Given the description of an element on the screen output the (x, y) to click on. 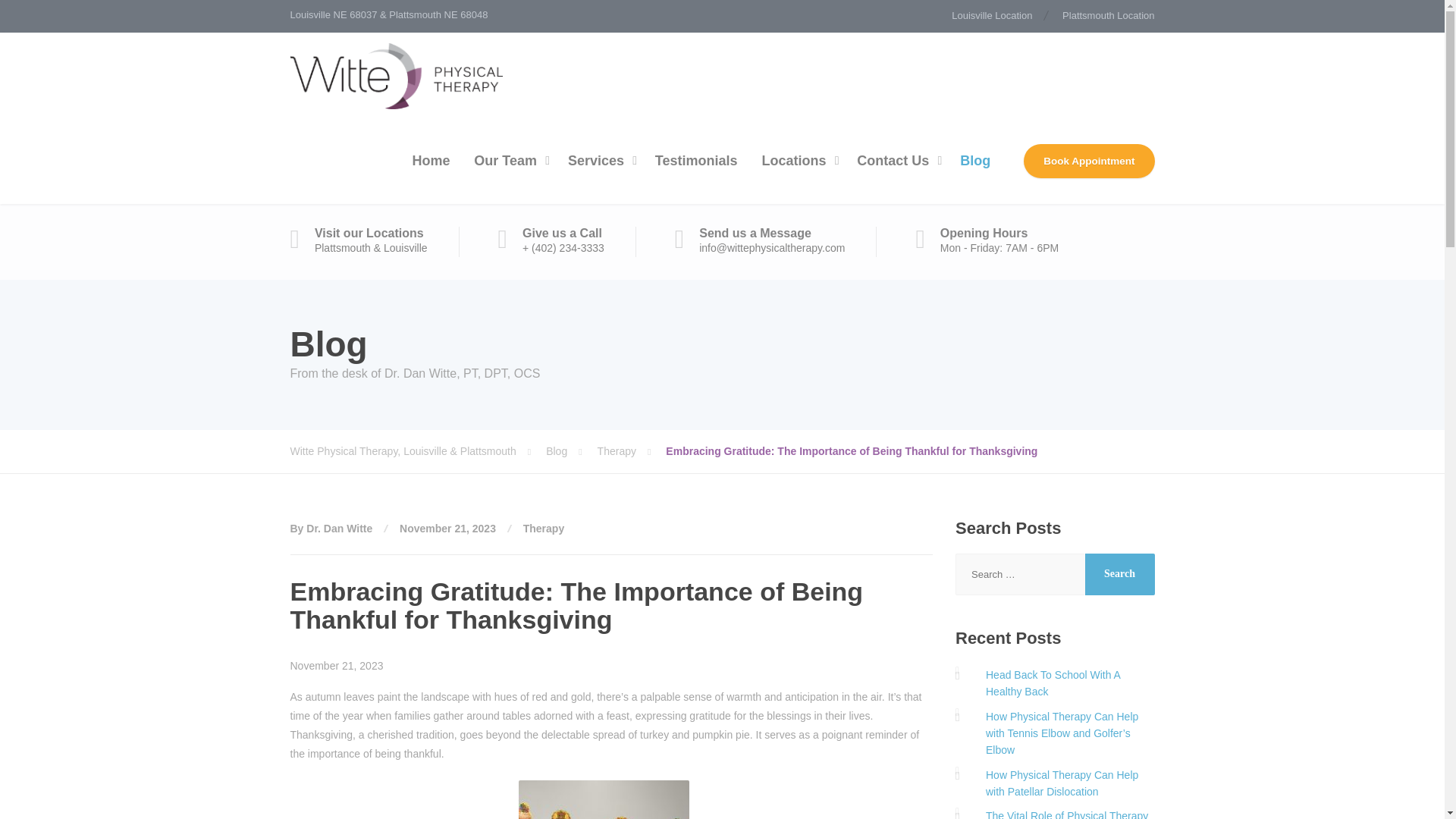
Go to Blog. (571, 451)
Our Team (508, 160)
Locations (797, 160)
Search (1119, 574)
Contact Us (895, 160)
Testimonials (696, 160)
Plattsmouth Location (1101, 15)
Go to the Therapy Category archives. (631, 451)
Louisville Location (999, 15)
Services (599, 160)
